Given the description of an element on the screen output the (x, y) to click on. 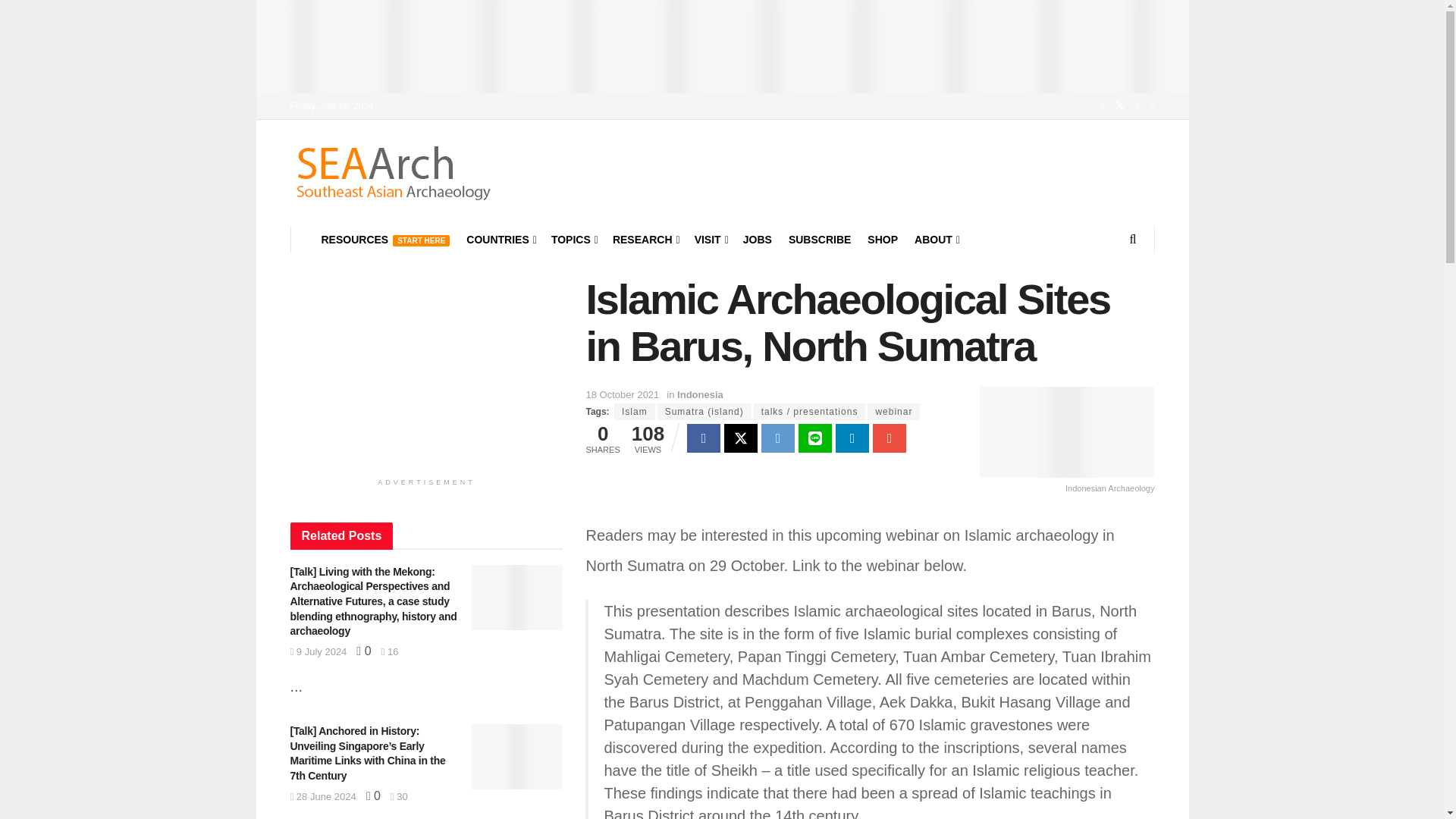
RESOURCESSTART HERE (385, 239)
COUNTRIES (499, 239)
TOPICS (573, 239)
Advertisement (426, 371)
